Given the description of an element on the screen output the (x, y) to click on. 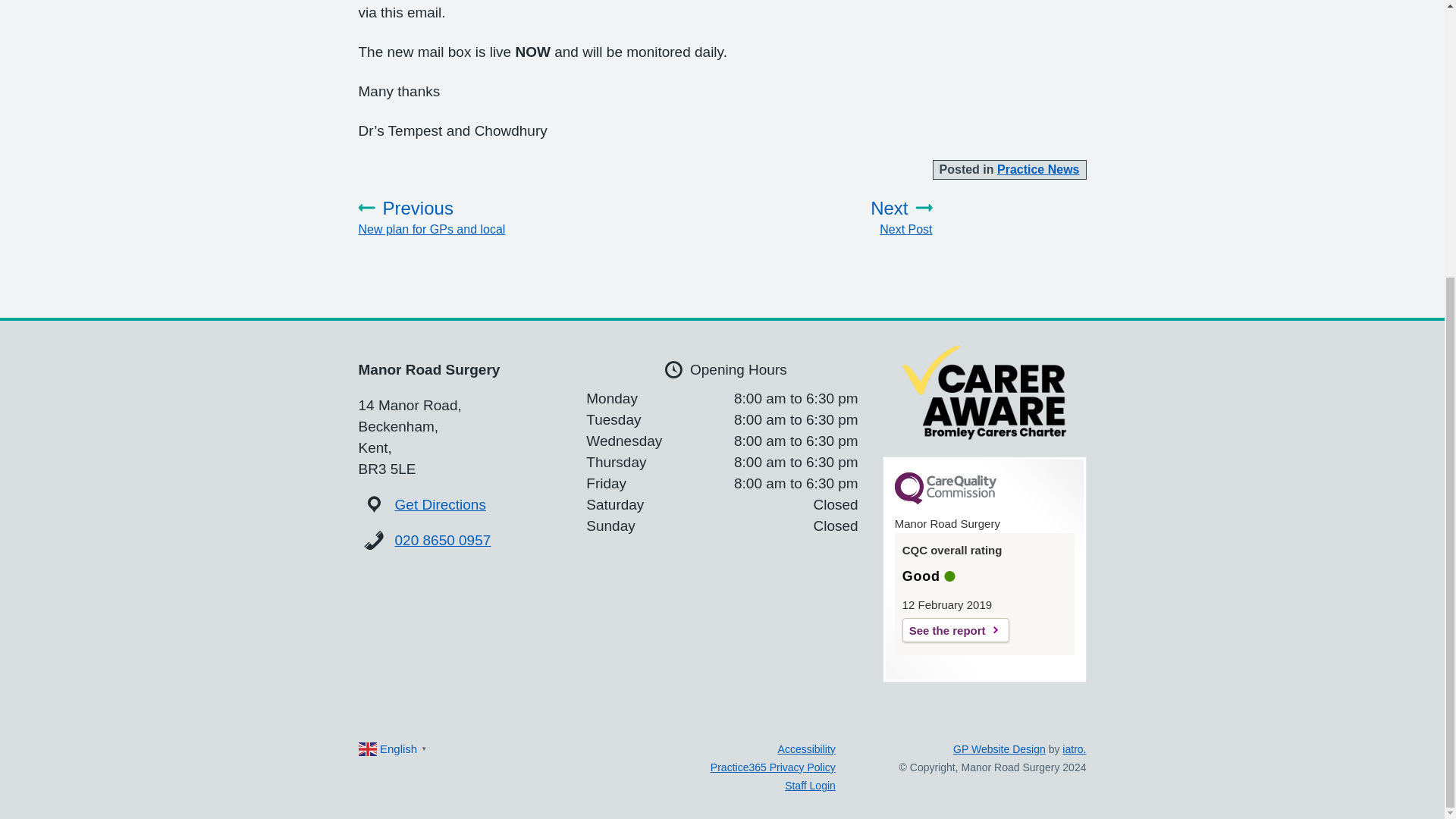
020 8650 0957 (443, 539)
CQC Logo (945, 500)
Get Directions (440, 504)
See the report (955, 630)
Practice News (823, 217)
Accessibility (1038, 169)
